Given the description of an element on the screen output the (x, y) to click on. 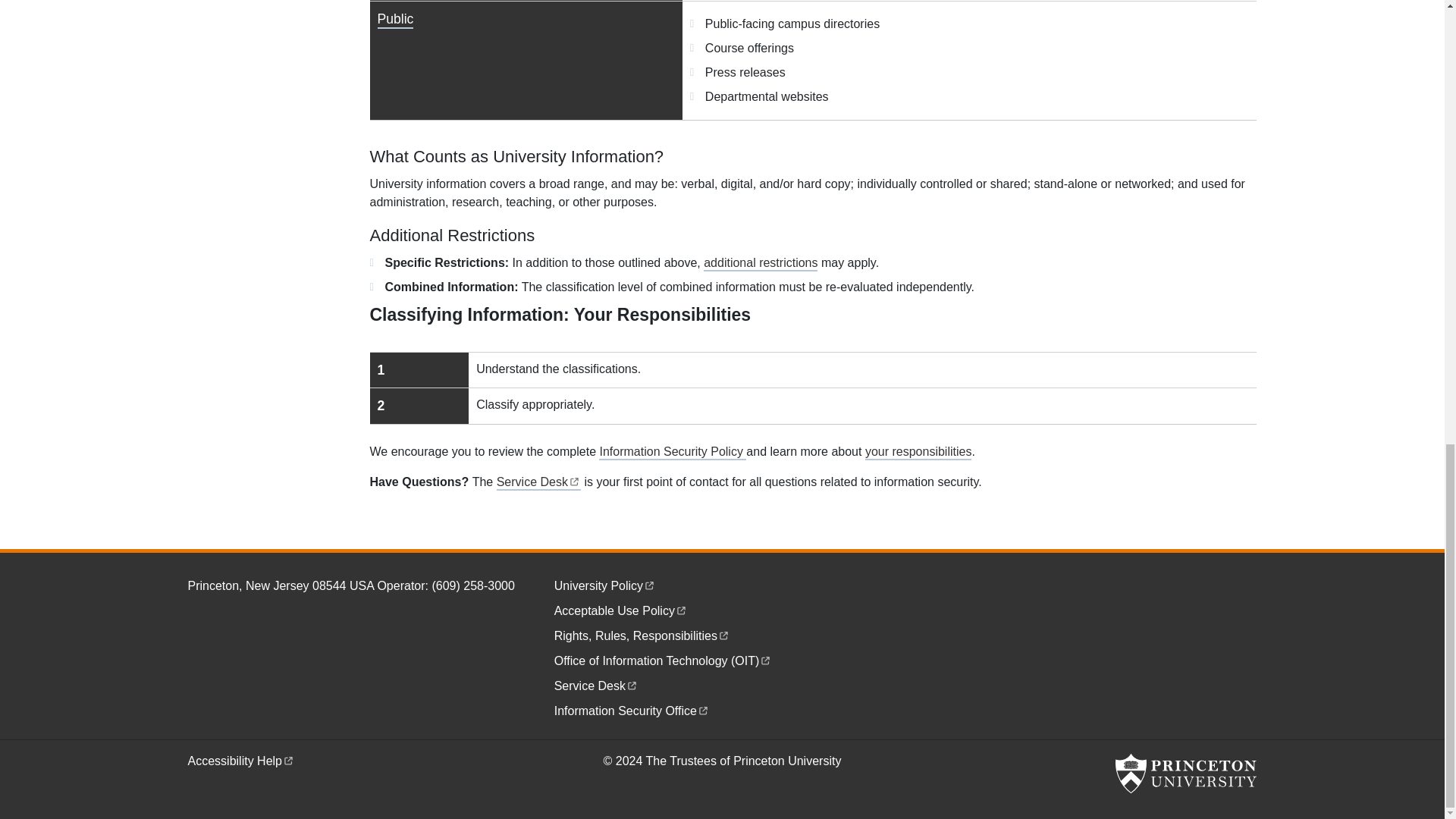
Princeton University (1185, 773)
Link is external (723, 633)
Link is external (813, 388)
Link is external (702, 709)
Link is external (765, 659)
Link is external (681, 609)
Link is external (649, 583)
Link is external (574, 479)
Link is external (631, 684)
